Given the description of an element on the screen output the (x, y) to click on. 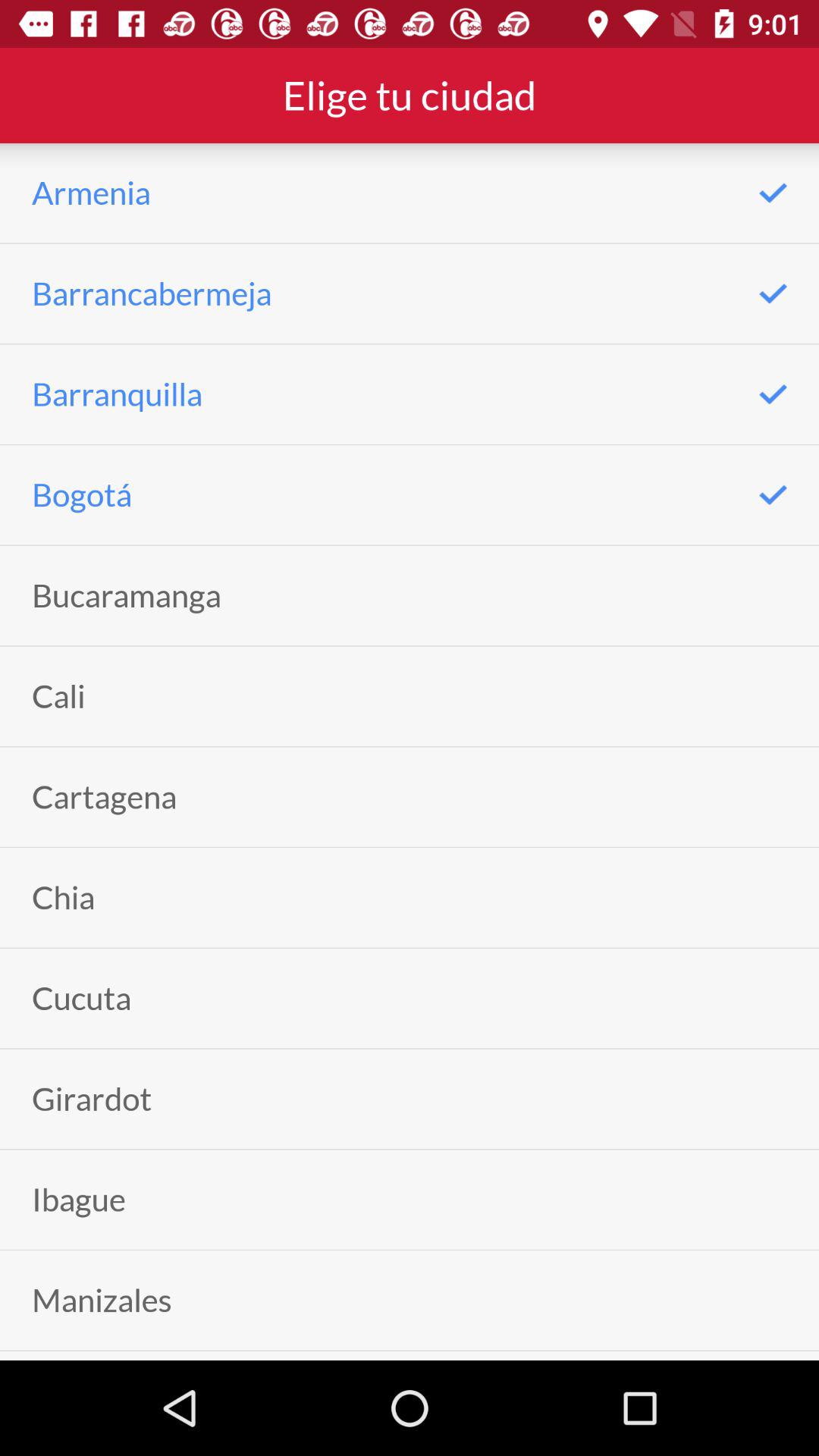
swipe to girardot icon (91, 1099)
